Given the description of an element on the screen output the (x, y) to click on. 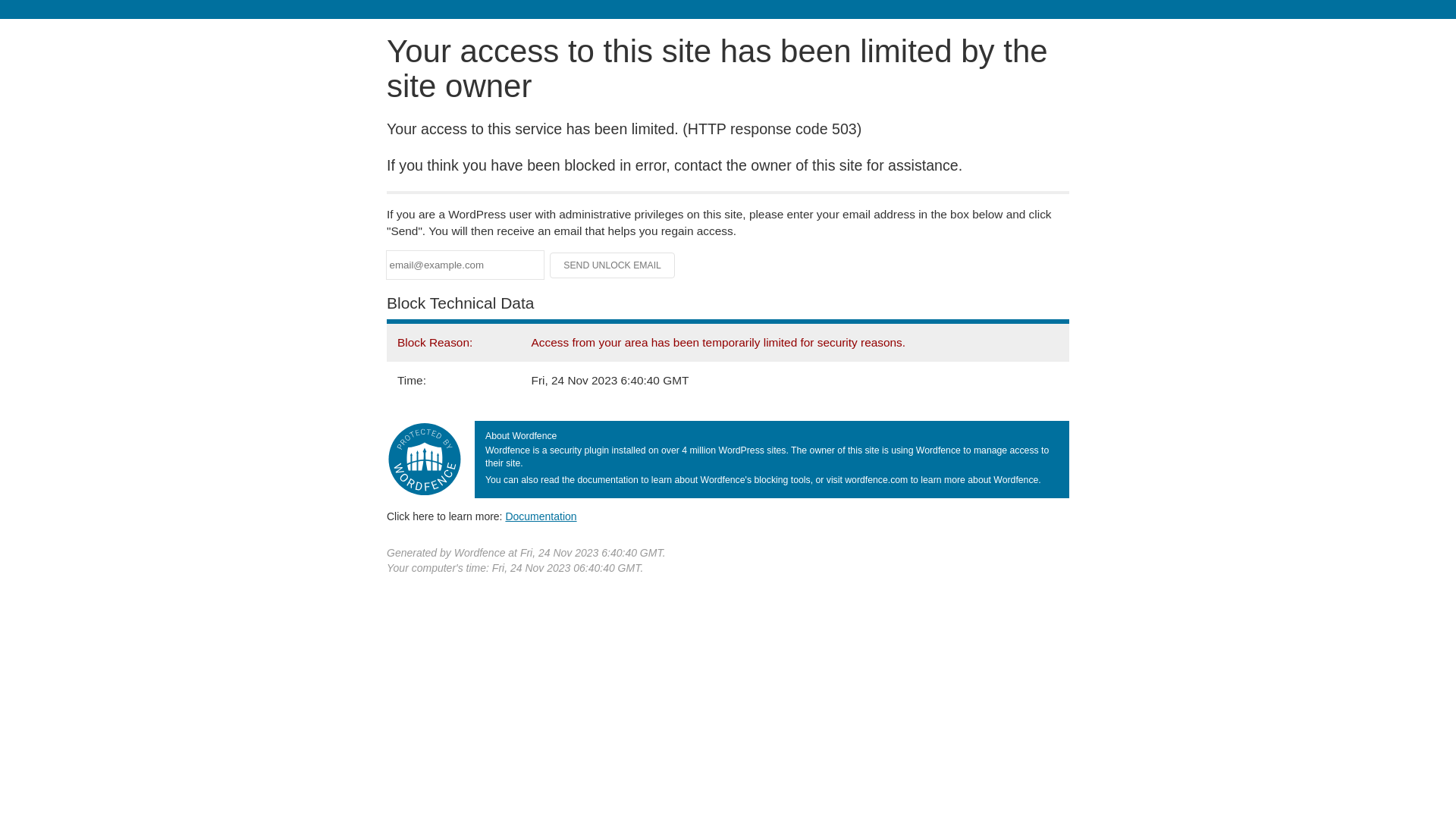
Send Unlock Email Element type: text (612, 265)
Documentation Element type: text (540, 516)
